Given the description of an element on the screen output the (x, y) to click on. 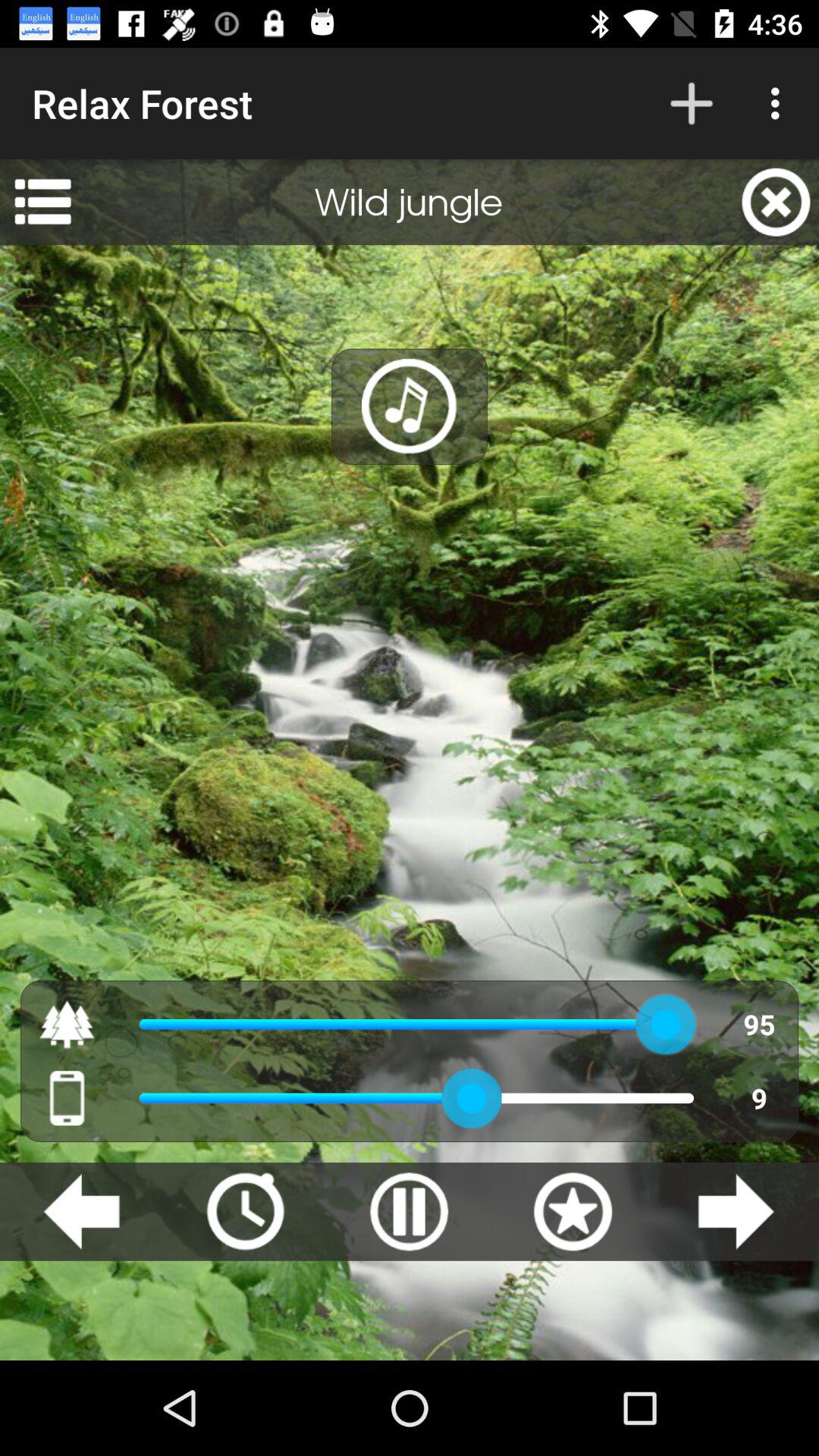
click item below relax forest (42, 202)
